Given the description of an element on the screen output the (x, y) to click on. 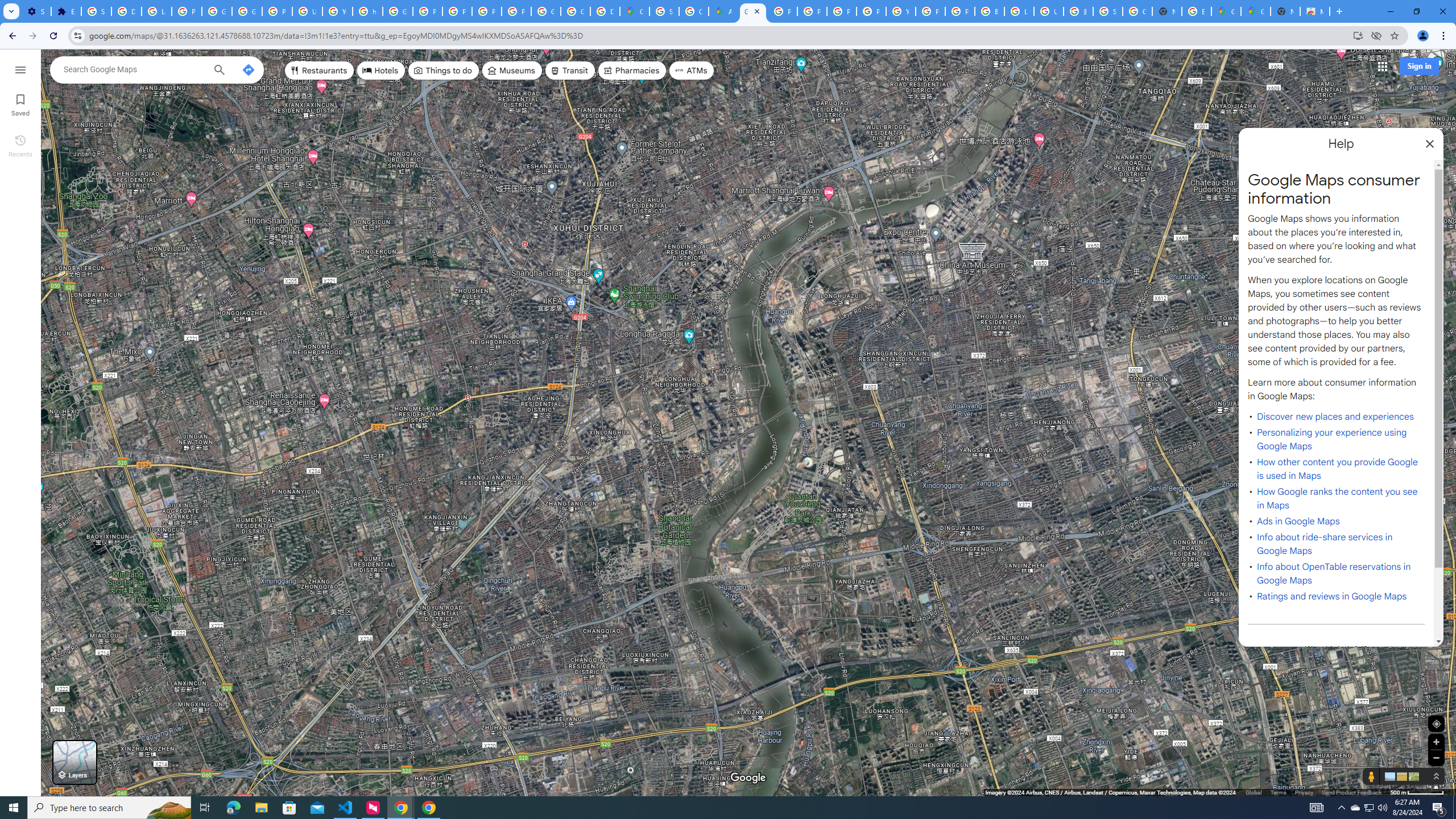
Sign in - Google Accounts (95, 11)
Explore new street-level details - Google Maps Help (1196, 11)
Google Maps (753, 11)
Personalizing your experience using Google Maps (1331, 439)
Global (1253, 792)
Google Maps (1226, 11)
Transit (569, 70)
Restaurants (319, 70)
